Given the description of an element on the screen output the (x, y) to click on. 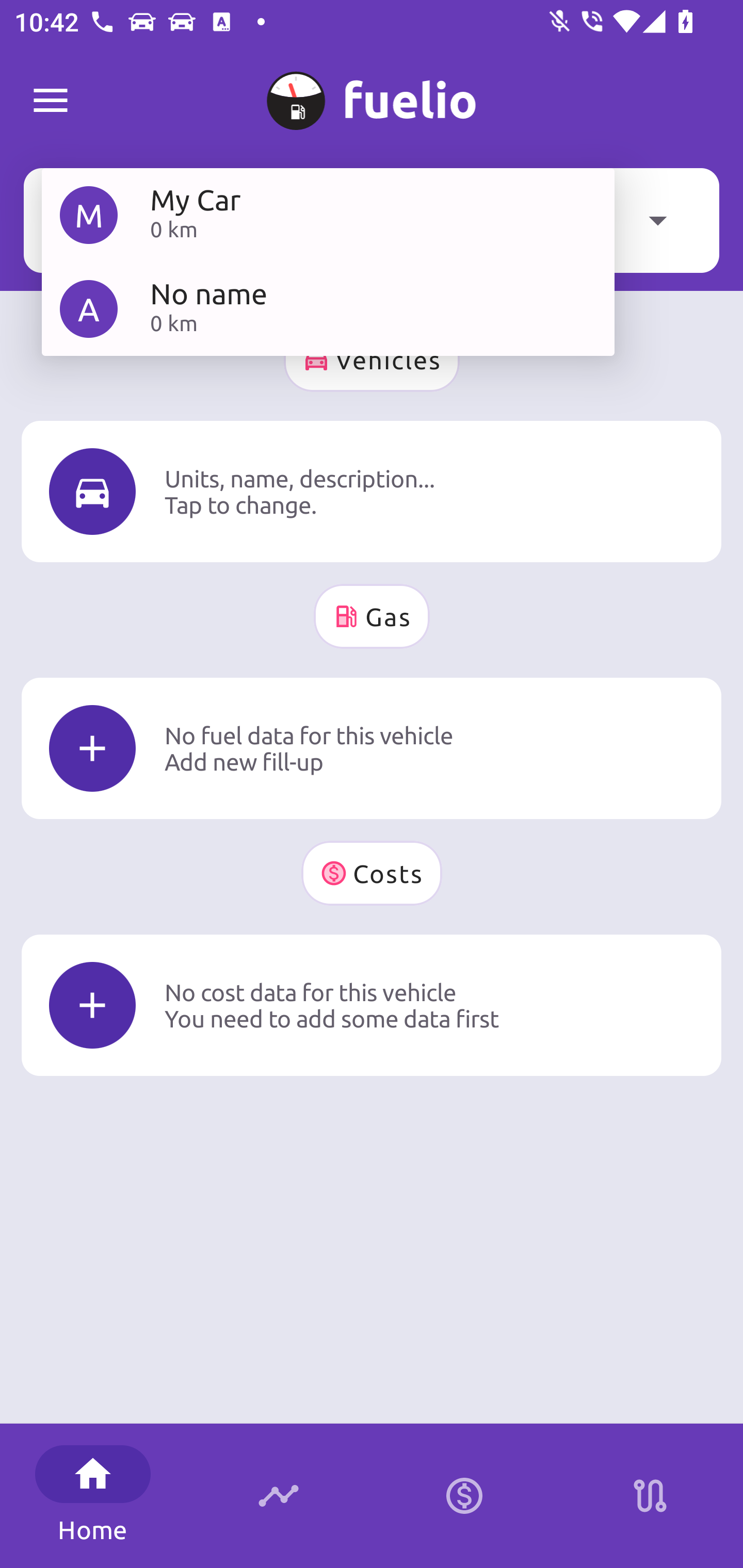
M My Car 0 km (327, 214)
A No name 0 km (327, 308)
